Given the description of an element on the screen output the (x, y) to click on. 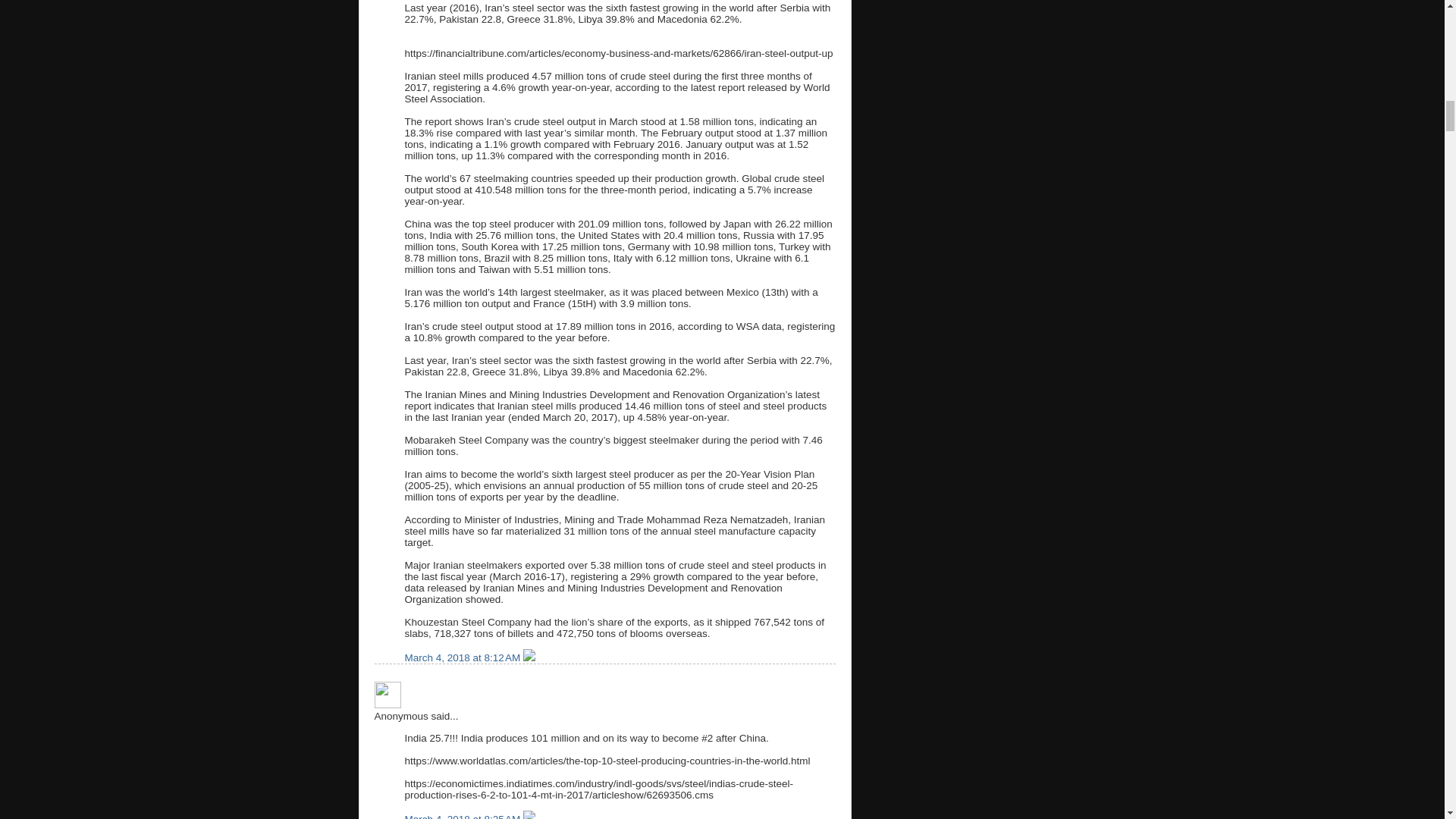
Delete Comment (528, 816)
comment permalink (463, 657)
Delete Comment (528, 657)
comment permalink (463, 816)
Anonymous (387, 694)
